Given the description of an element on the screen output the (x, y) to click on. 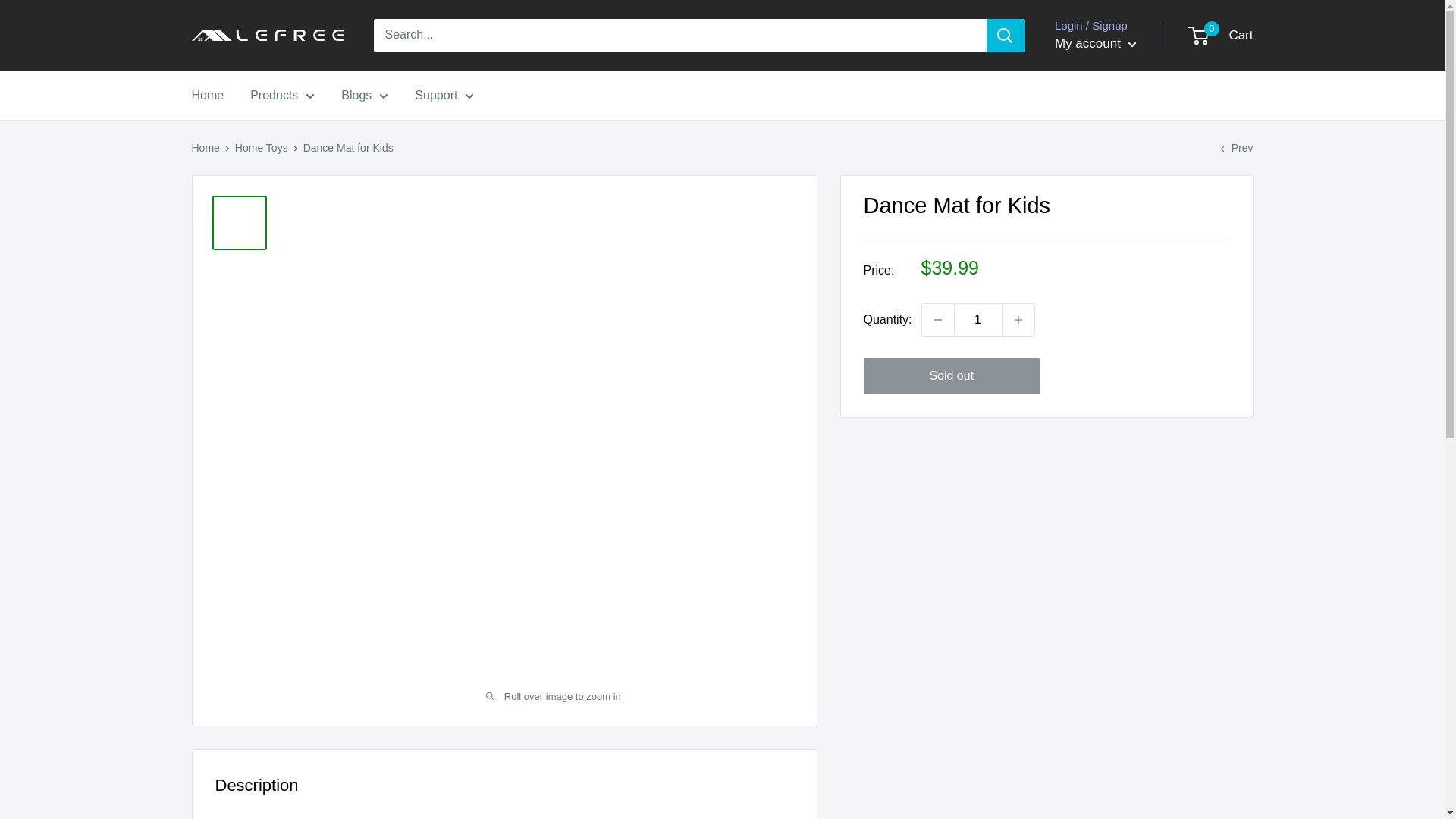
Decrease quantity by 1 (937, 319)
Increase quantity by 1 (1018, 319)
1 (978, 319)
My account (1095, 43)
Lefree (266, 34)
